Given the description of an element on the screen output the (x, y) to click on. 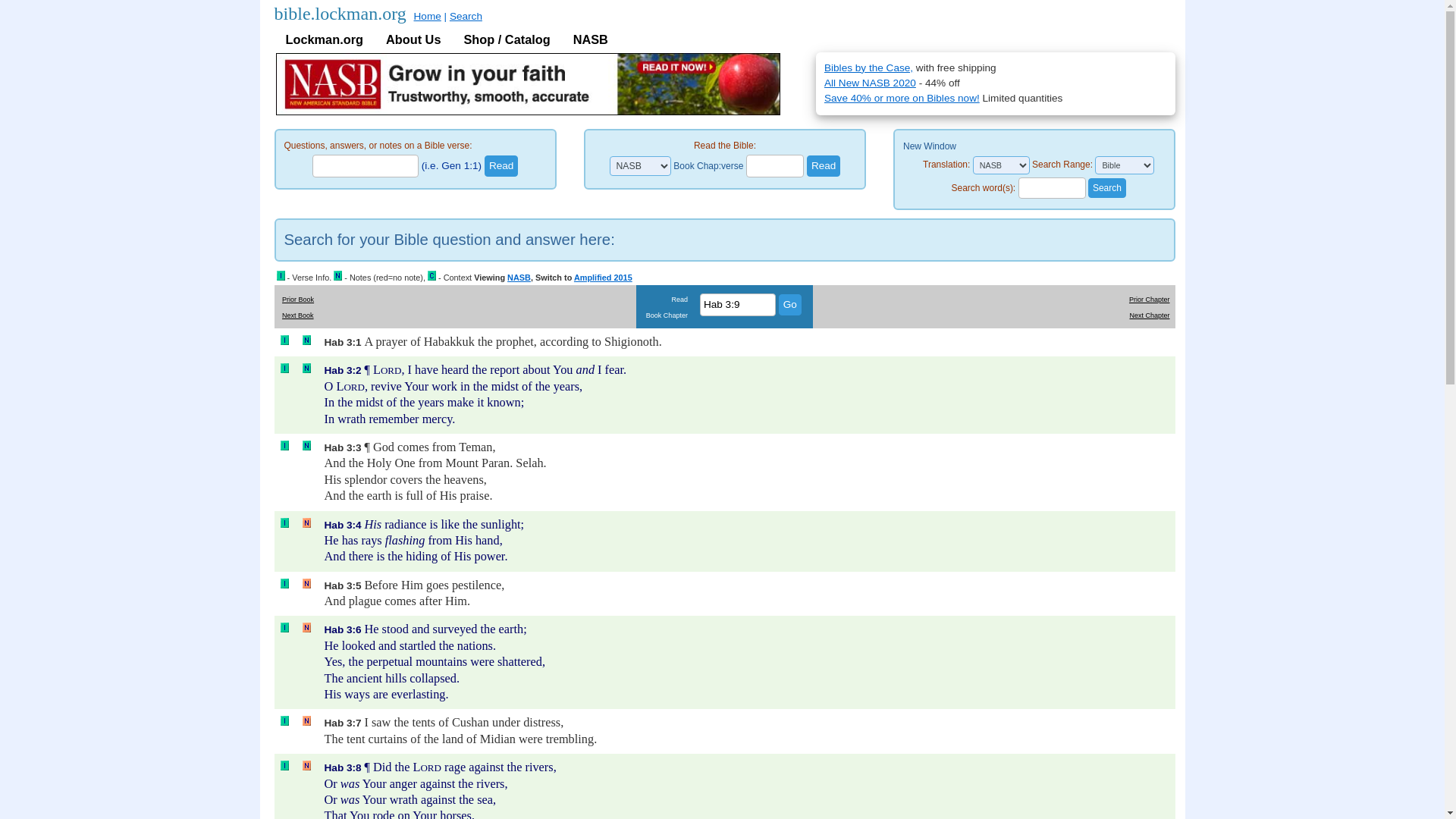
Hab 3:9 (738, 304)
Search (465, 16)
Go (790, 304)
Read (501, 165)
Search (1106, 188)
Next Book (298, 315)
NASB (591, 39)
Amplified 2015 (602, 276)
Prior Book (298, 299)
Prior Chapter (1149, 299)
About Us (413, 39)
Lockman.org (324, 39)
Read (501, 165)
Go (790, 304)
Next Chapter (1149, 315)
